Given the description of an element on the screen output the (x, y) to click on. 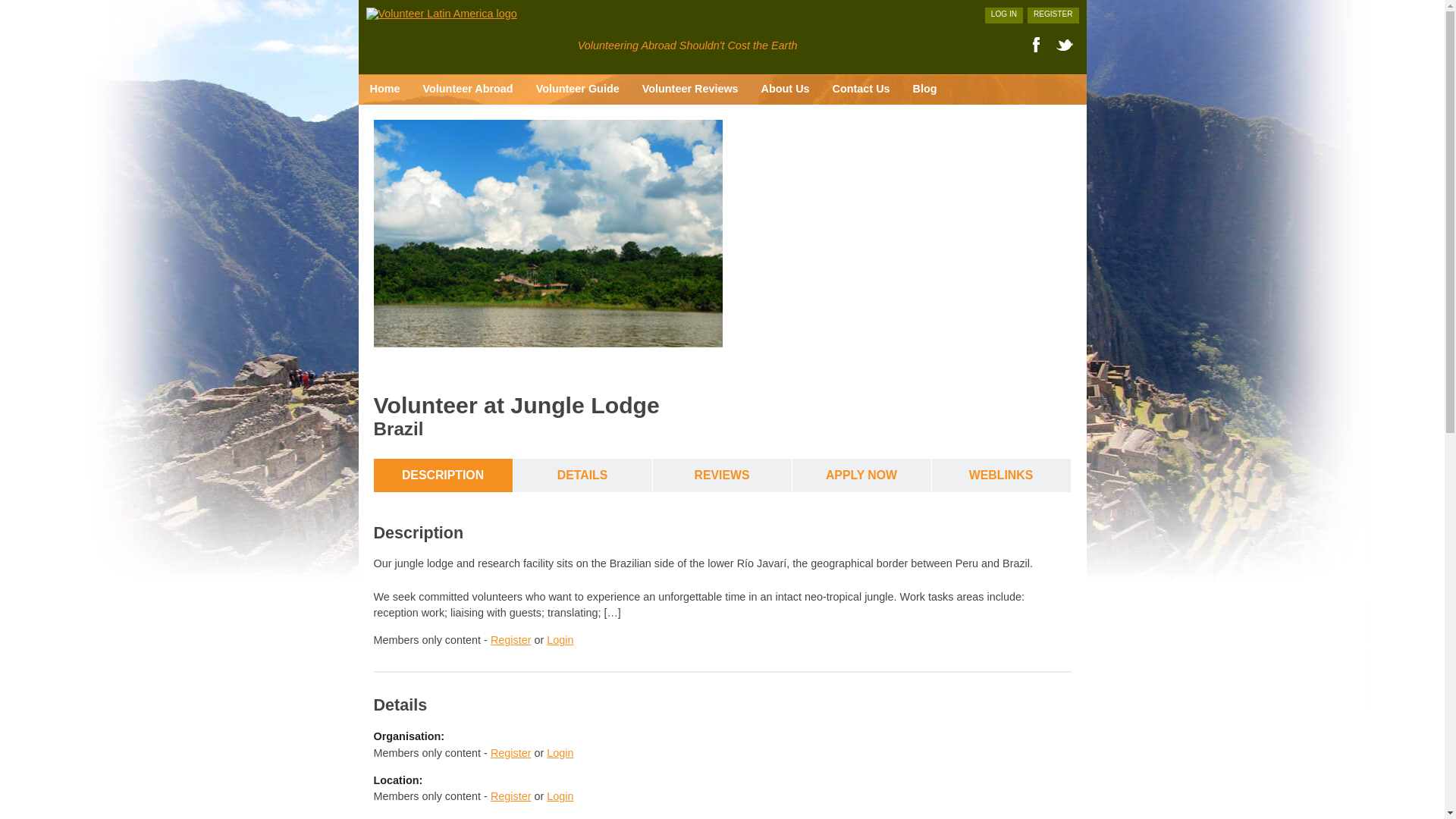
APPLY NOW (861, 475)
Volunteer Abroad Free (467, 88)
Contact us (861, 88)
Register (1052, 15)
Log In (1004, 15)
Facebook (1034, 44)
Home (384, 88)
REGISTER (1052, 15)
Volunteer Reviews (689, 88)
Volunteer Latin America home page (440, 13)
Blog (925, 88)
Twitter (1063, 44)
Register (510, 752)
REVIEWS (722, 475)
Volunteer Reviews (689, 88)
